Given the description of an element on the screen output the (x, y) to click on. 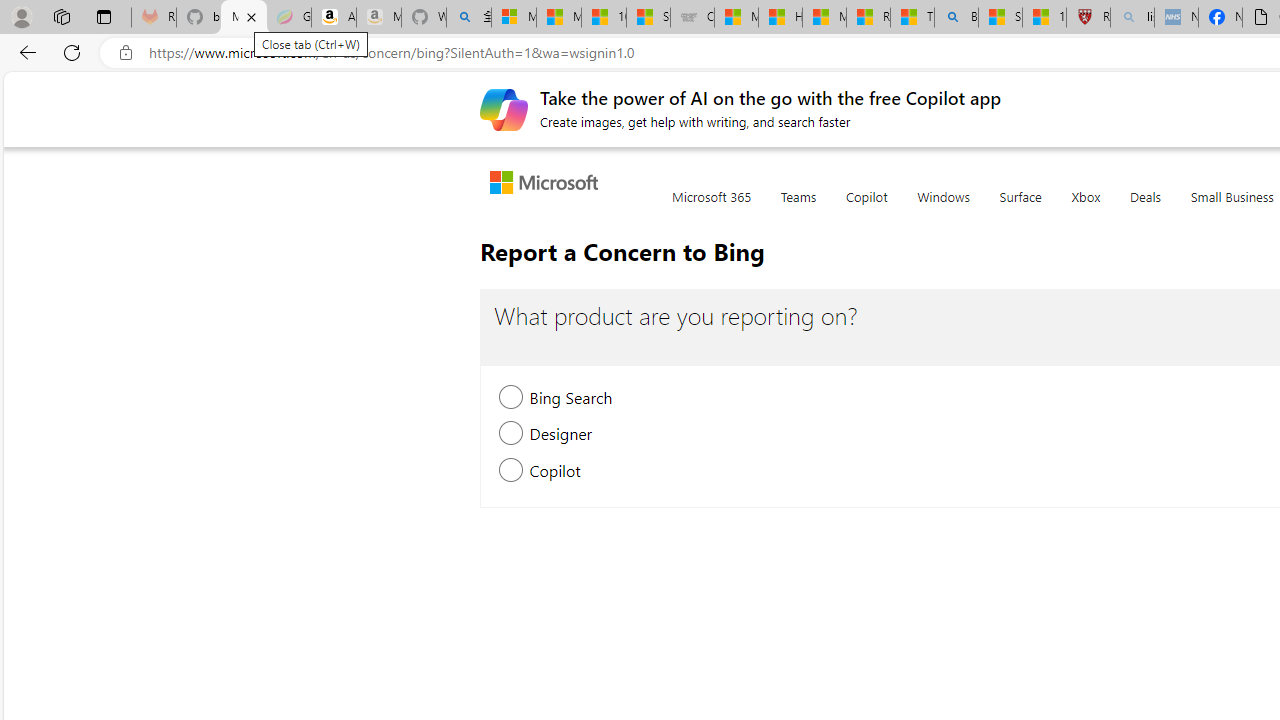
Windows (943, 207)
Designer, new section will be expanded (511, 435)
